Given the description of an element on the screen output the (x, y) to click on. 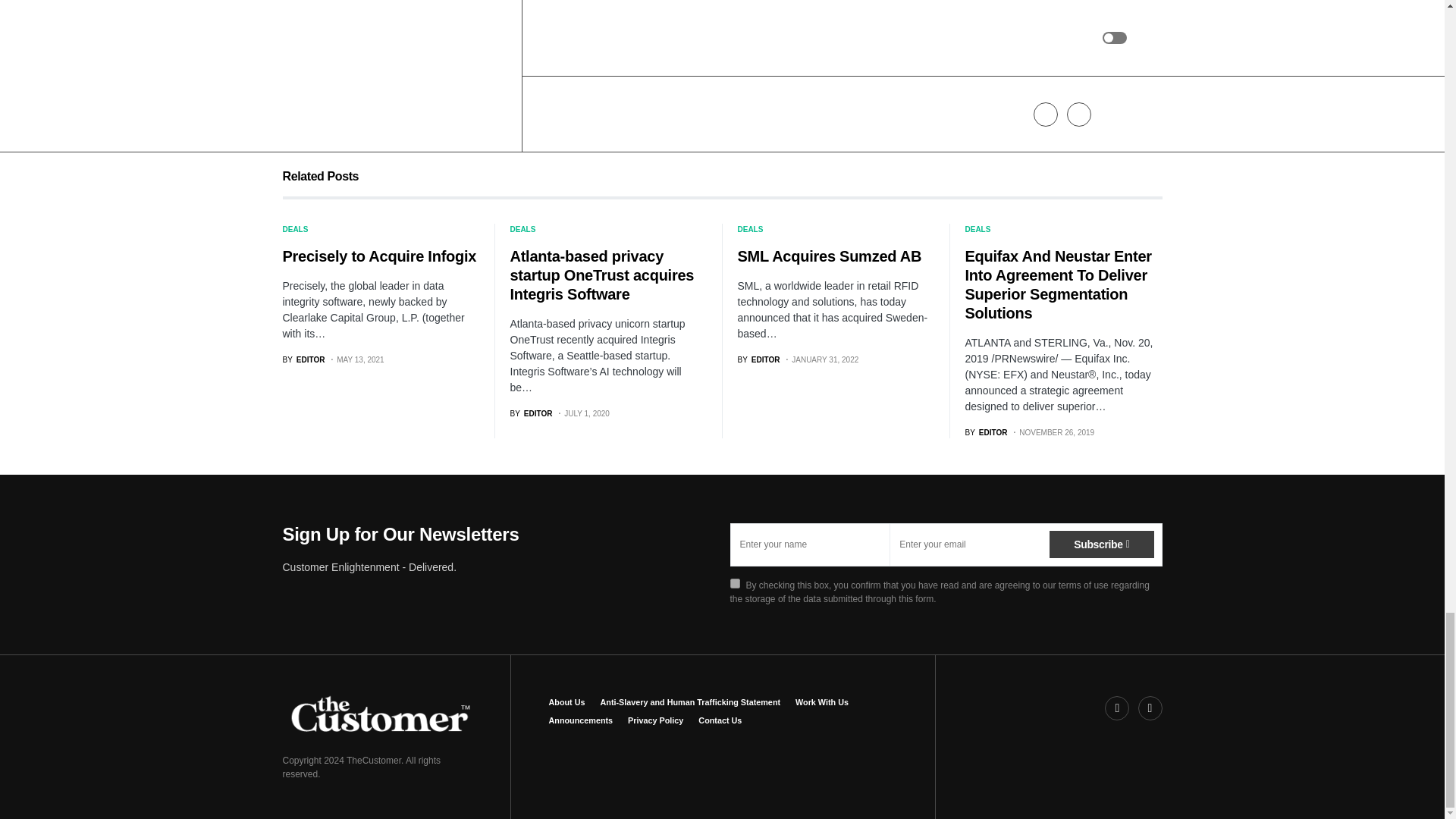
View all posts by Editor (985, 432)
View all posts by Editor (798, 122)
View all posts by Editor (757, 359)
View all posts by Editor (390, 122)
on (734, 583)
View all posts by Editor (530, 413)
View all posts by Editor (303, 359)
